Given the description of an element on the screen output the (x, y) to click on. 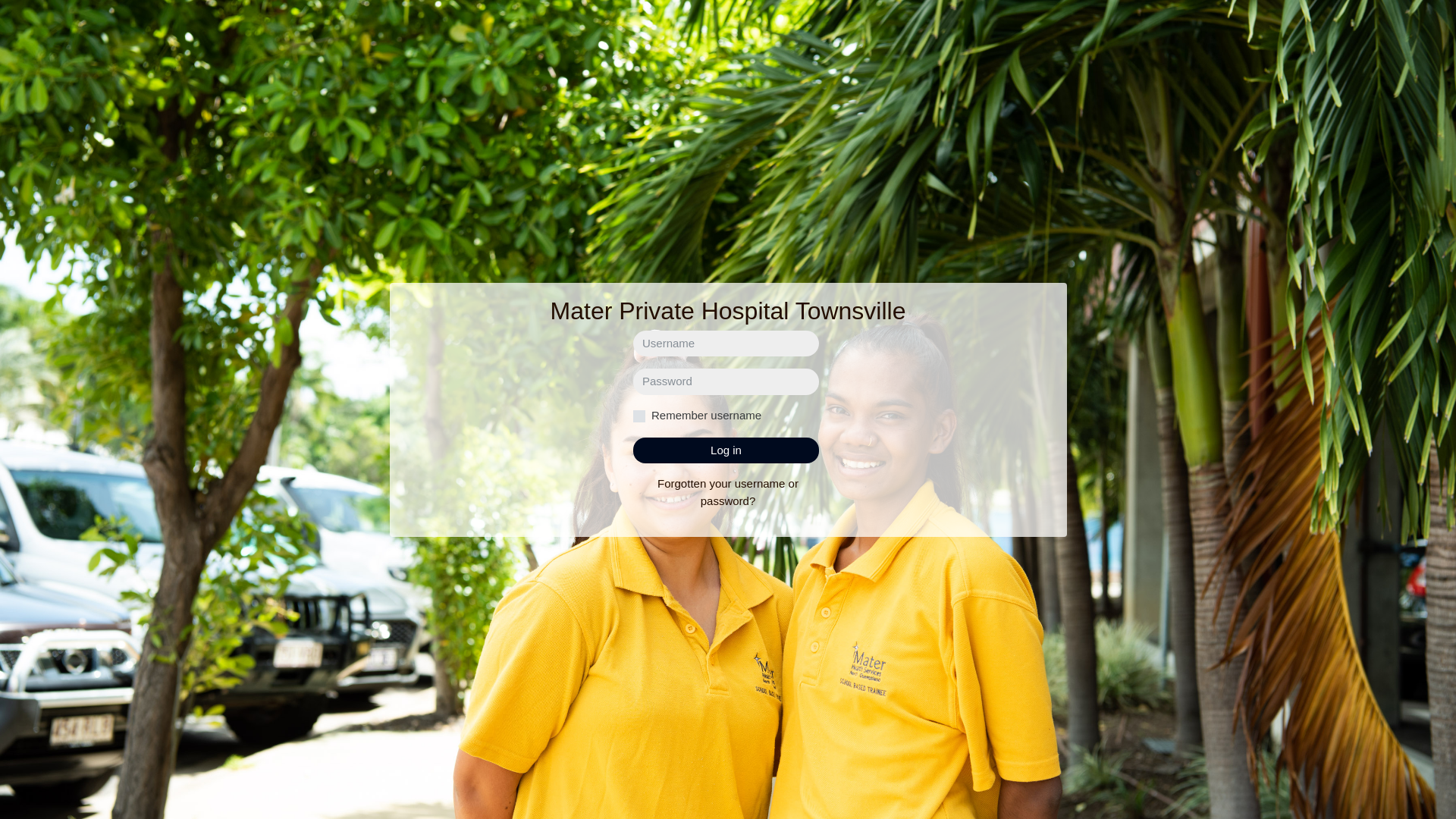
Forgotten your username or password? Element type: text (727, 491)
Log in Element type: text (726, 450)
